Given the description of an element on the screen output the (x, y) to click on. 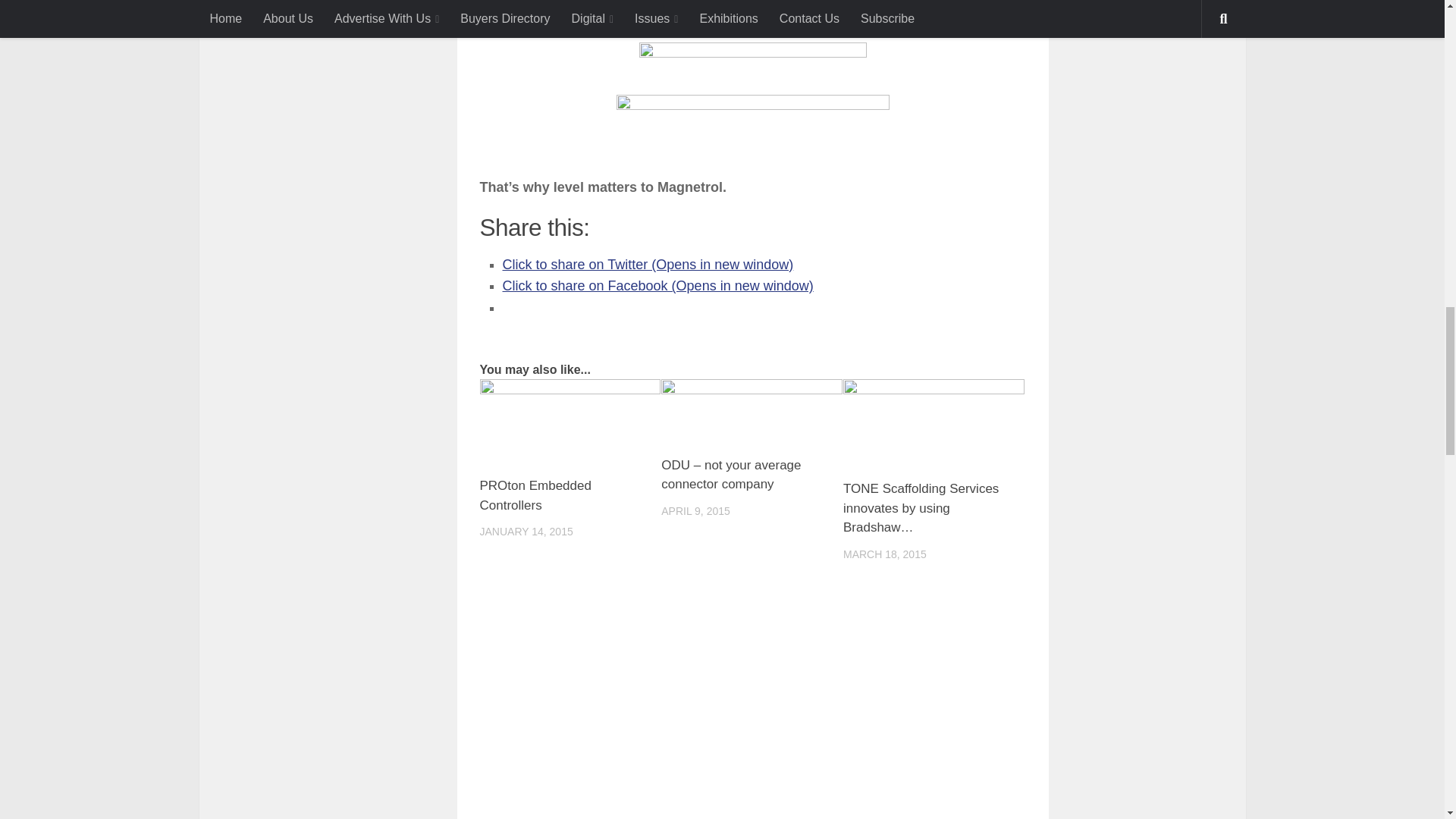
Click to share on Facebook (657, 285)
Click to share on Twitter (647, 264)
